Given the description of an element on the screen output the (x, y) to click on. 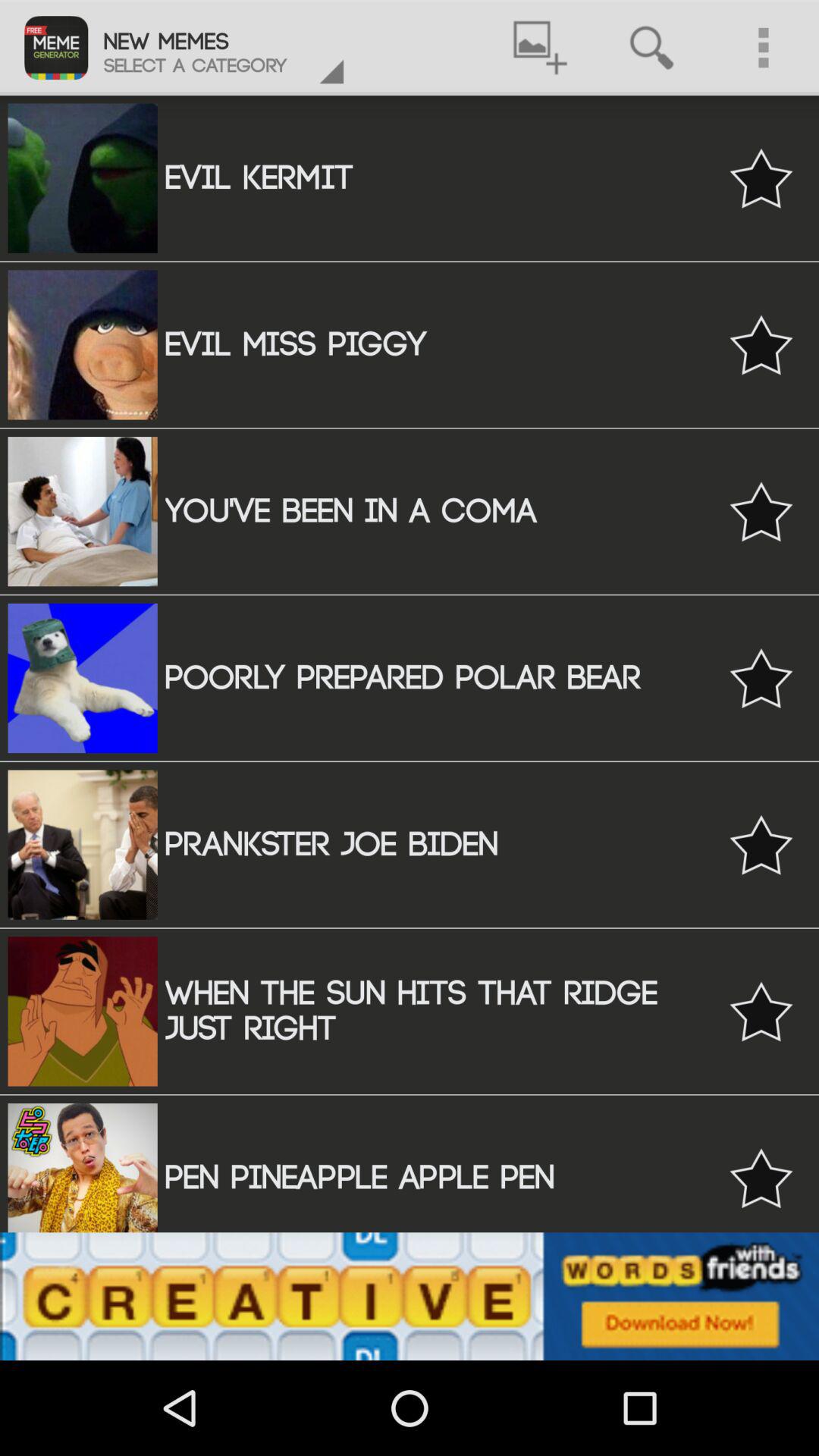
favorite touch (761, 678)
